Given the description of an element on the screen output the (x, y) to click on. 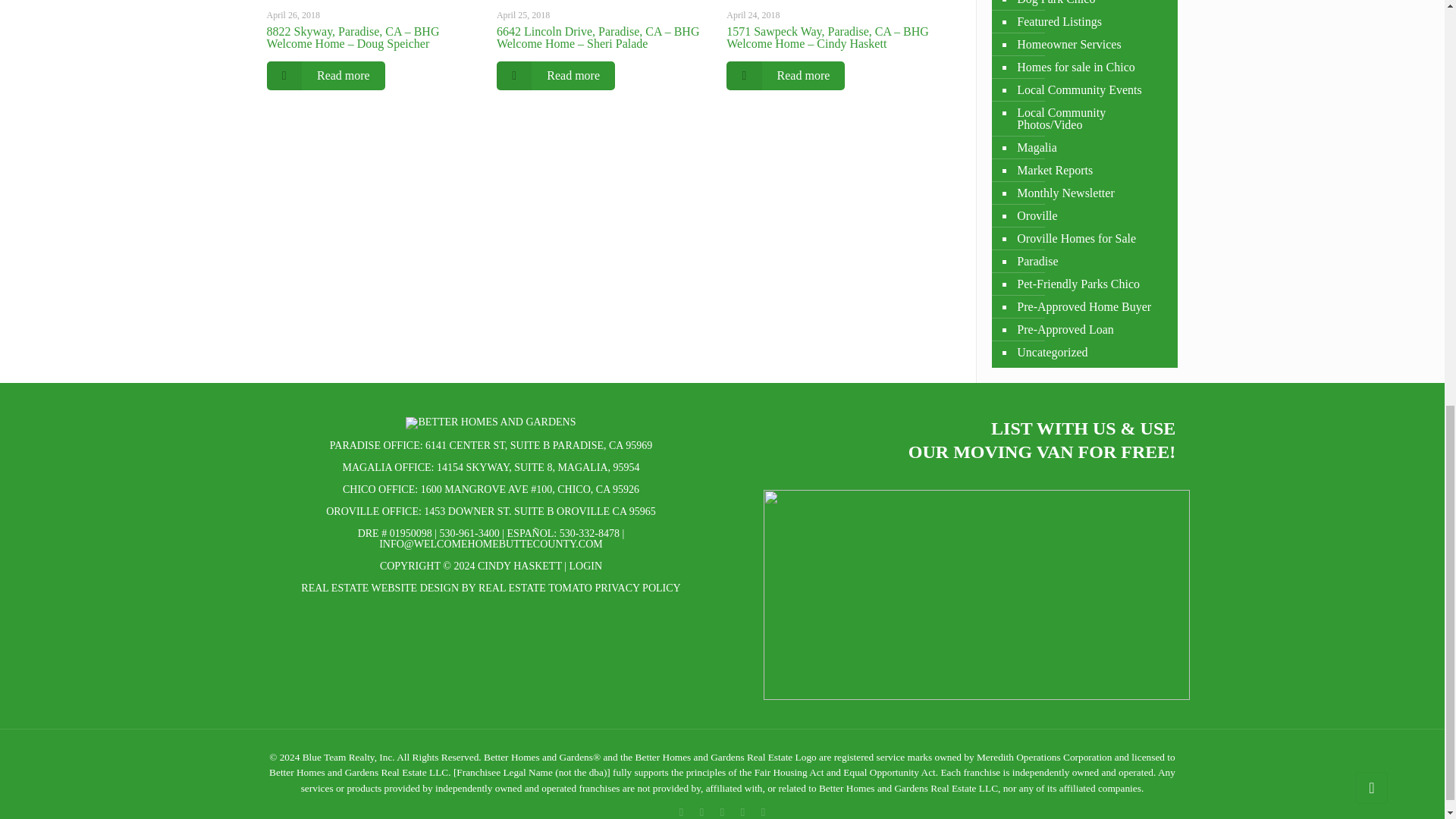
LinkedIn (743, 811)
Twitter (722, 811)
Instagram (763, 811)
Facebook (680, 811)
